Given the description of an element on the screen output the (x, y) to click on. 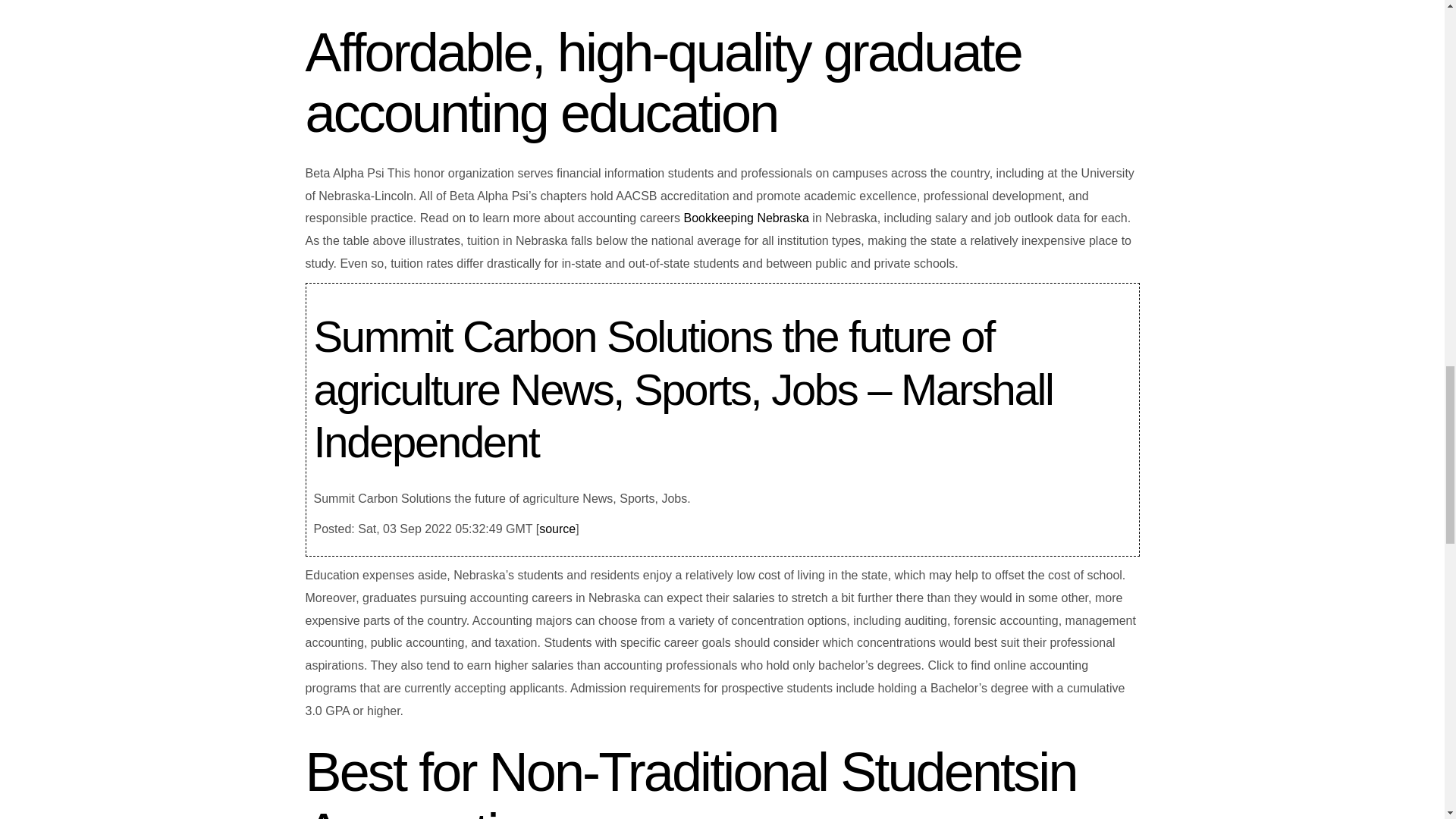
Bookkeeping Nebraska (745, 217)
source (556, 528)
